Given the description of an element on the screen output the (x, y) to click on. 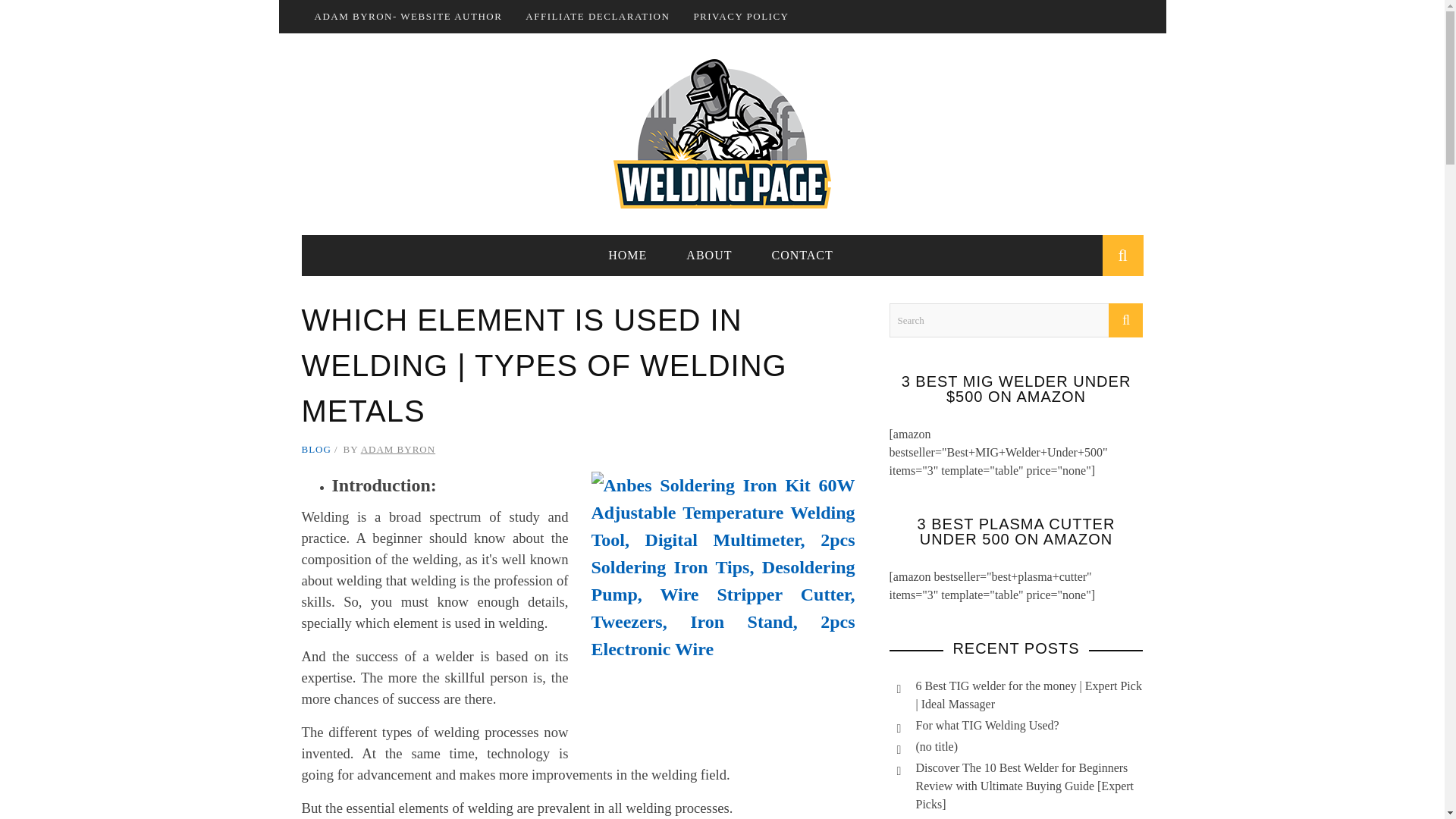
ADAM BYRON- WEBSITE AUTHOR (408, 16)
ABOUT (708, 254)
BLOG (316, 448)
PRIVACY POLICY (741, 16)
HOME (627, 254)
CONTACT (801, 254)
Search (1015, 320)
ADAM BYRON (398, 448)
AFFILIATE DECLARATION (597, 16)
